Given the description of an element on the screen output the (x, y) to click on. 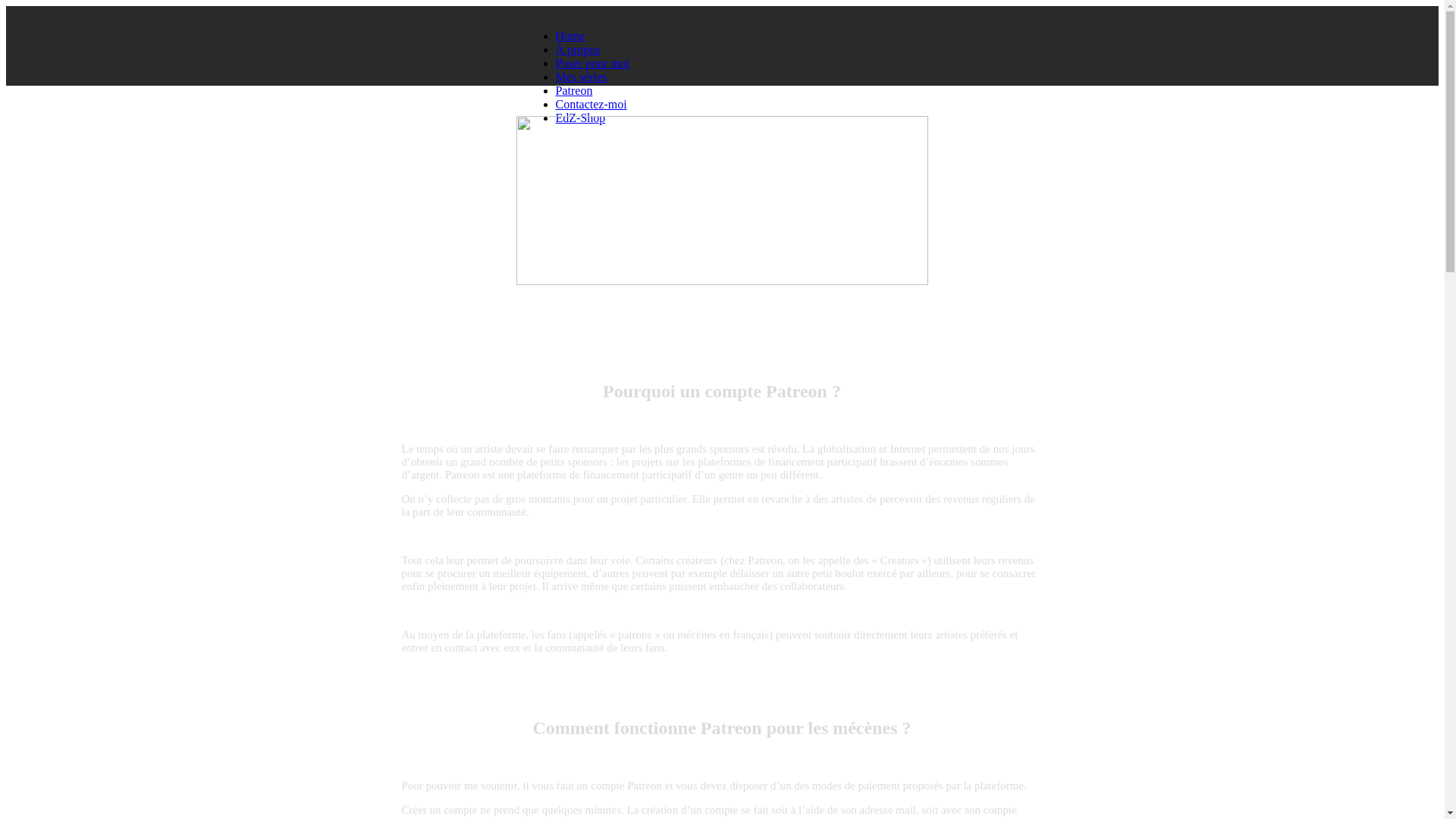
Patreon Element type: text (573, 90)
Home Element type: text (569, 35)
EdZ-Shop Element type: text (580, 117)
Contactez-moi Element type: text (590, 103)
Poser pour moi Element type: text (592, 62)
